Given the description of an element on the screen output the (x, y) to click on. 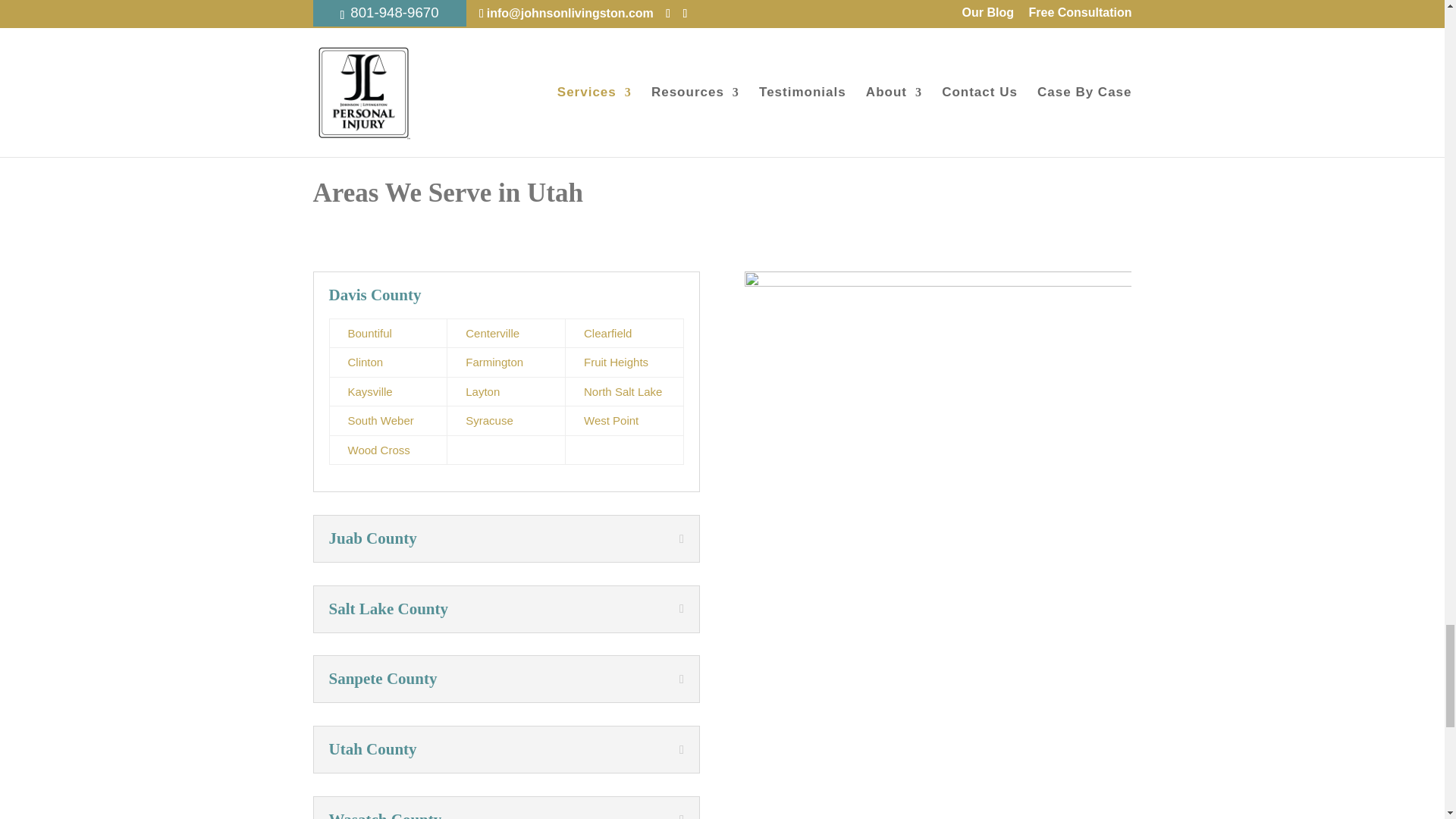
what-to-do-after-a-car-accident-image (303, 76)
understanding-personal-injury-terms--image (778, 76)
